Given the description of an element on the screen output the (x, y) to click on. 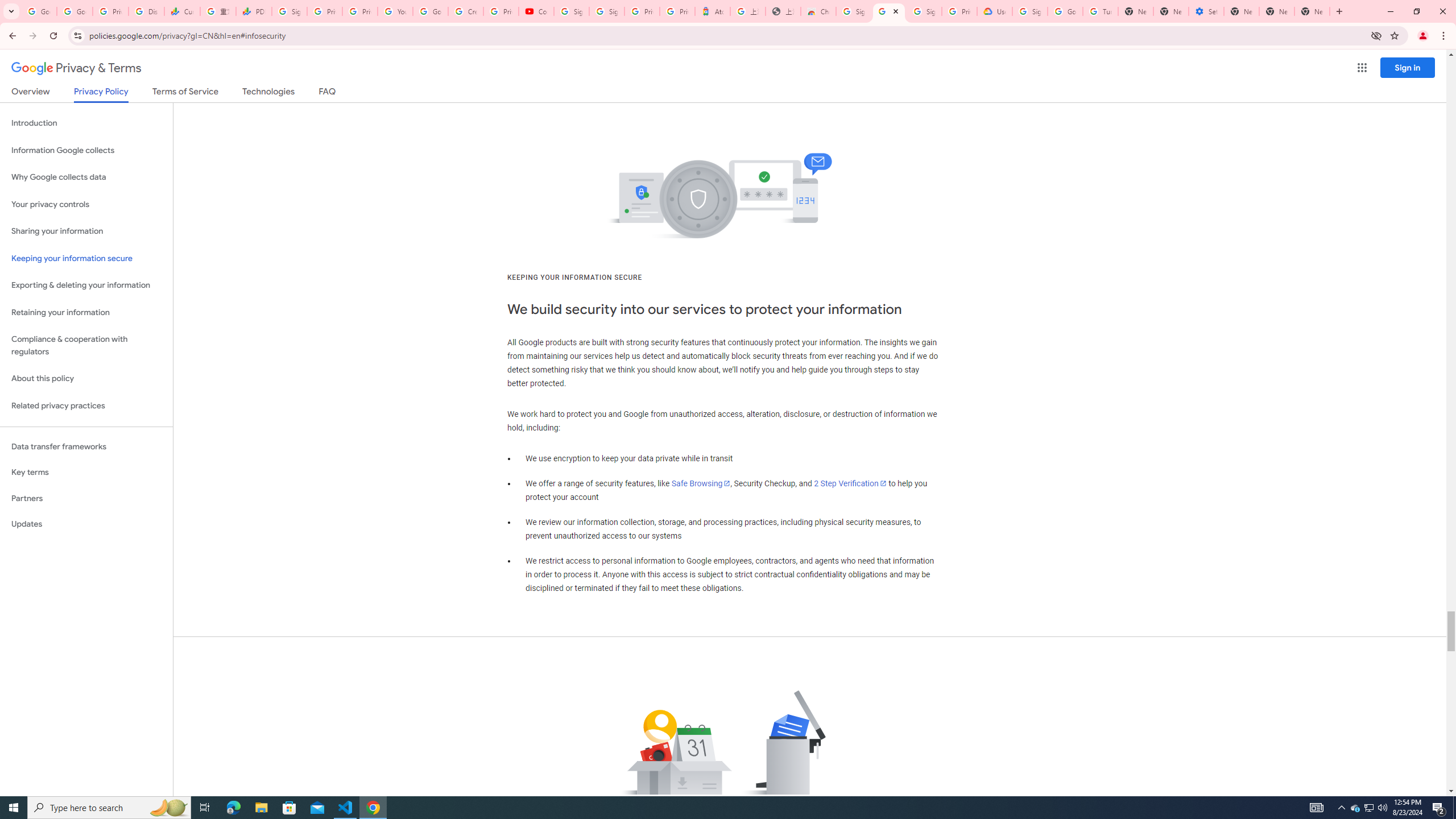
Your privacy controls (86, 204)
YouTube (394, 11)
Partners (86, 497)
Google Account Help (429, 11)
Content Creator Programs & Opportunities - YouTube Creators (536, 11)
